Given the description of an element on the screen output the (x, y) to click on. 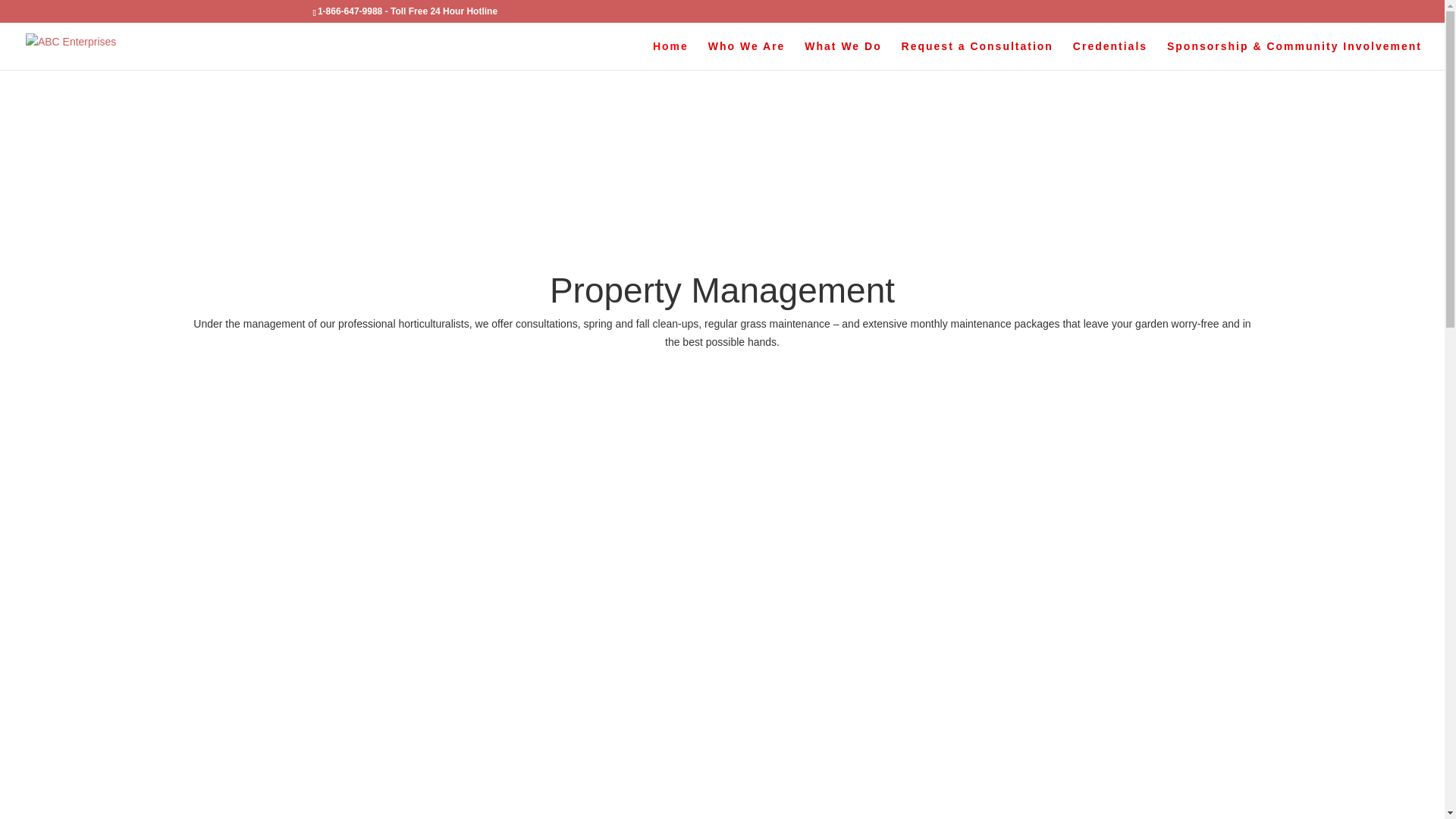
Sponsorship & Community Involvement Element type: text (1294, 54)
Home Element type: text (670, 54)
Credentials Element type: text (1110, 54)
Request a Consultation Element type: text (977, 54)
Who We Are Element type: text (746, 54)
What We Do Element type: text (842, 54)
